Given the description of an element on the screen output the (x, y) to click on. 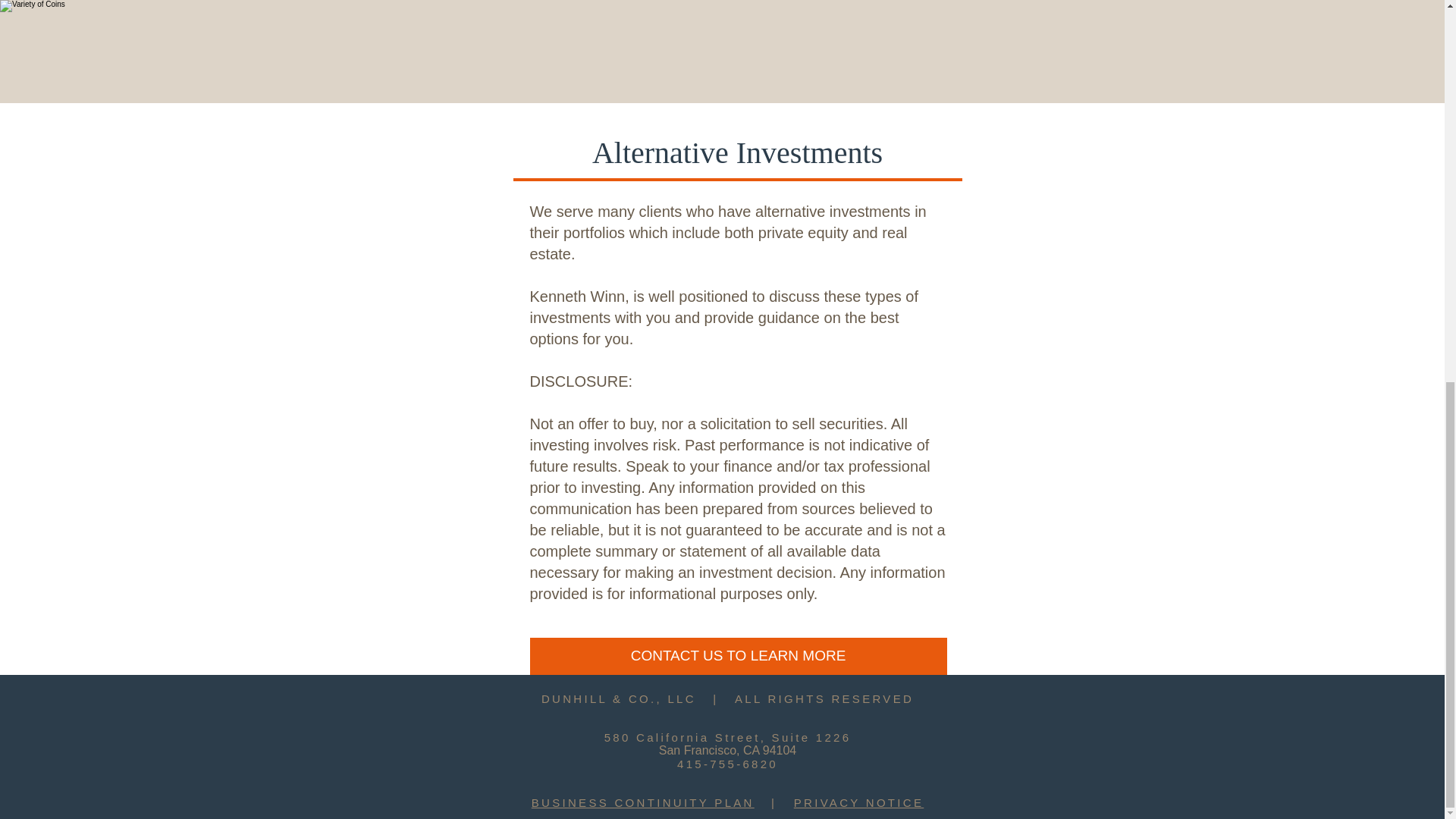
PRIVACY NOTICE (858, 802)
CONTACT US TO LEARN MORE (737, 656)
BUSINESS CONTINUITY PLAN (642, 802)
